Given the description of an element on the screen output the (x, y) to click on. 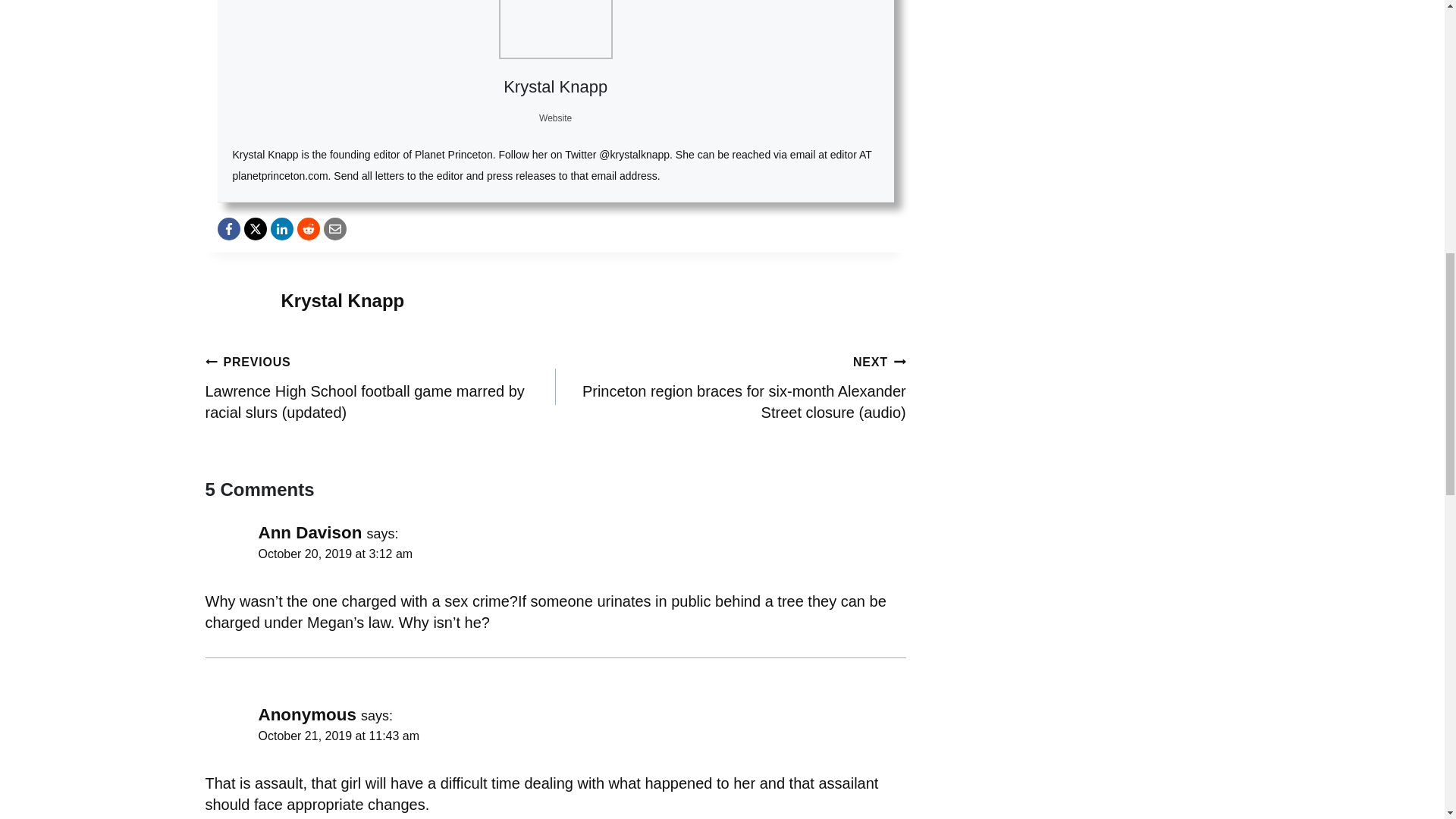
Website (555, 118)
Krystal Knapp (555, 86)
